Given the description of an element on the screen output the (x, y) to click on. 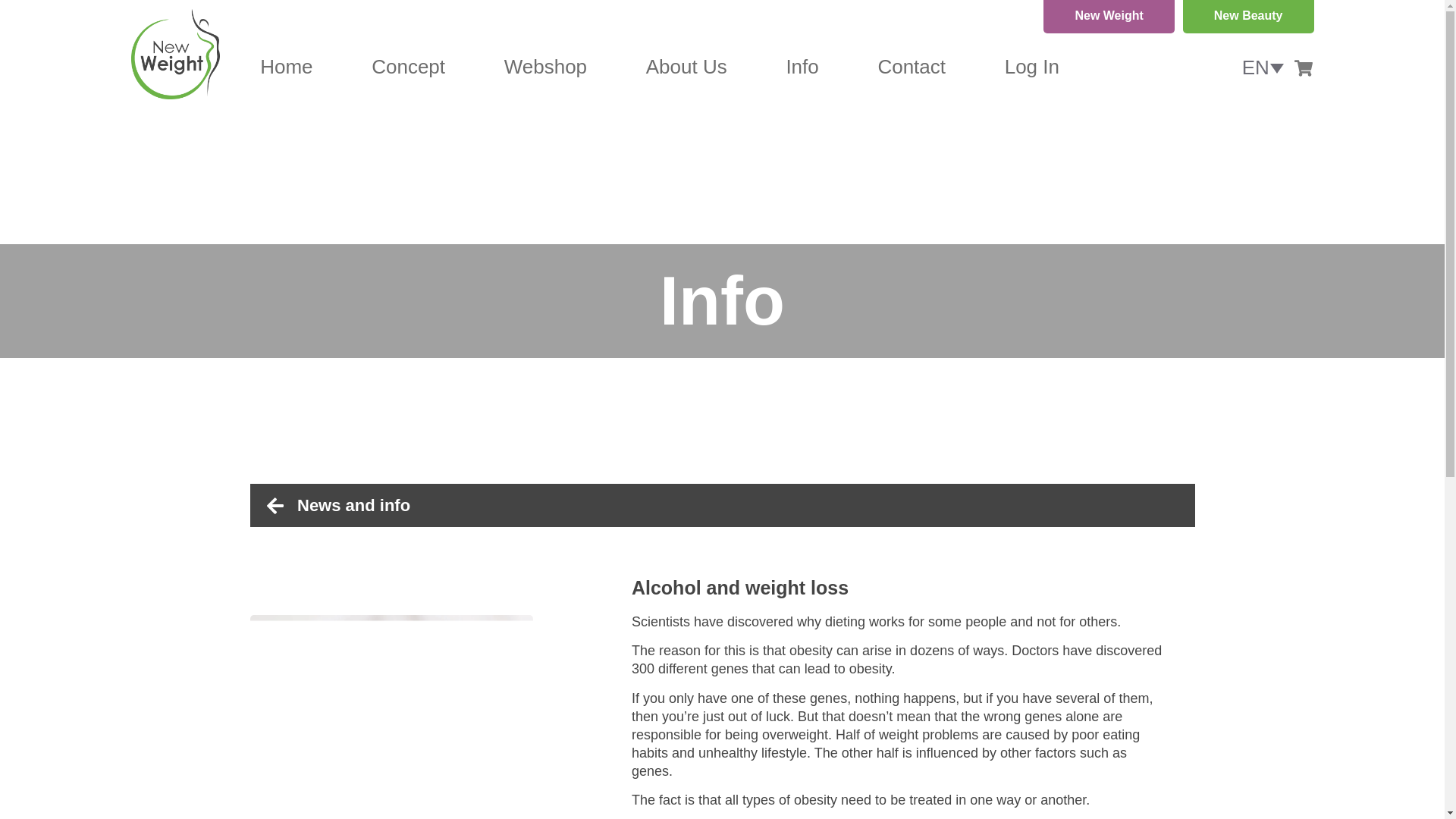
Home (286, 66)
Webshop (544, 66)
Concept (408, 66)
New Weight (1108, 16)
EN (1262, 66)
News and info (730, 505)
About Us (686, 66)
Log In (1031, 66)
Info (802, 66)
Contact (910, 66)
